Given the description of an element on the screen output the (x, y) to click on. 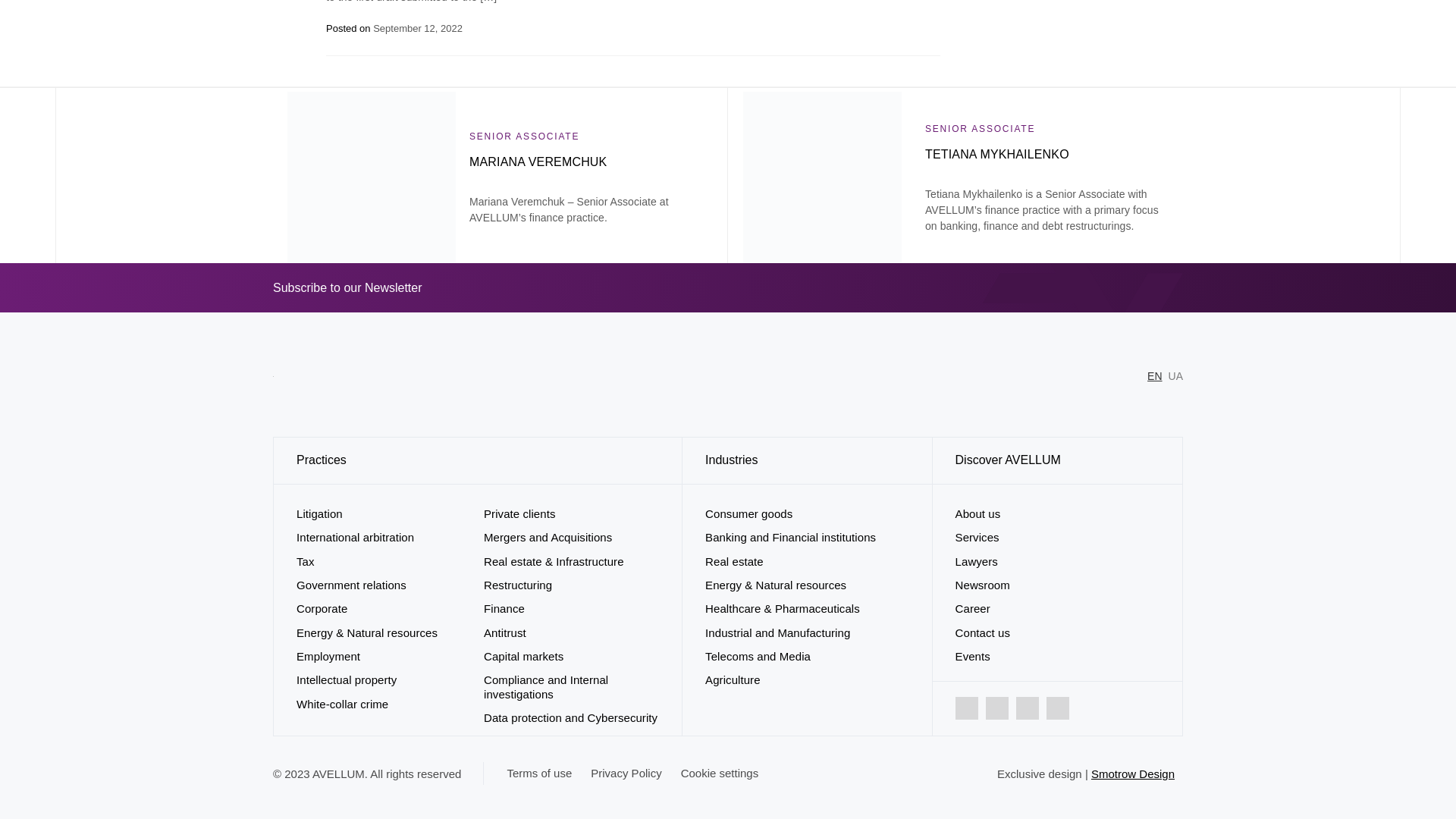
White-collar crime (342, 703)
UA (1175, 376)
Litigation (319, 513)
International arbitration (355, 536)
Corporate (322, 608)
Tax (305, 561)
EN (1154, 376)
Employment (328, 656)
Government relations (351, 584)
Private clients (518, 513)
Mergers and Acquisitions (547, 536)
Intellectual property (346, 679)
